Given the description of an element on the screen output the (x, y) to click on. 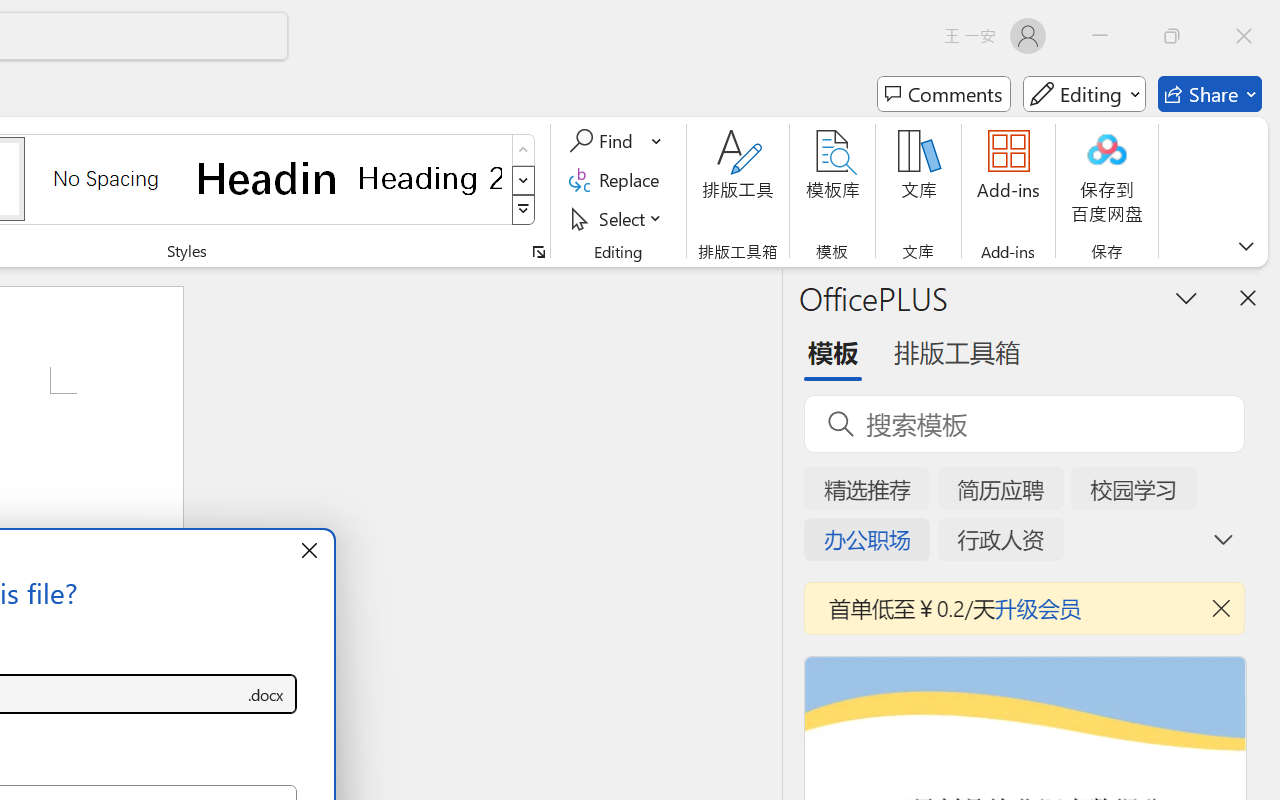
Row Down (523, 180)
Restore Down (1172, 36)
Replace... (617, 179)
Close (1244, 36)
Row up (523, 150)
Save as type (265, 694)
